Given the description of an element on the screen output the (x, y) to click on. 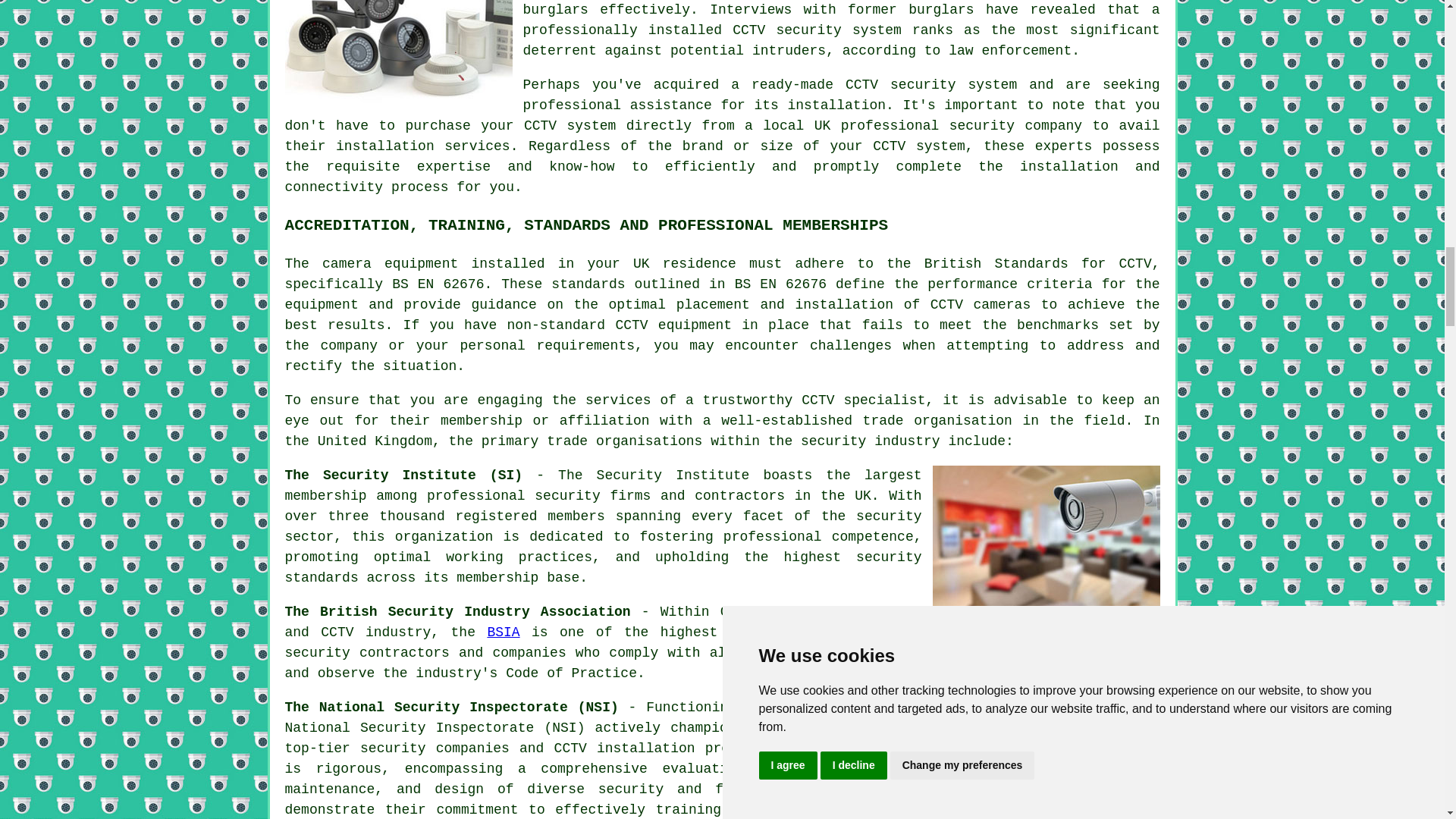
CCTV Cameras UK (1046, 540)
CCTV Systems (398, 54)
